Given the description of an element on the screen output the (x, y) to click on. 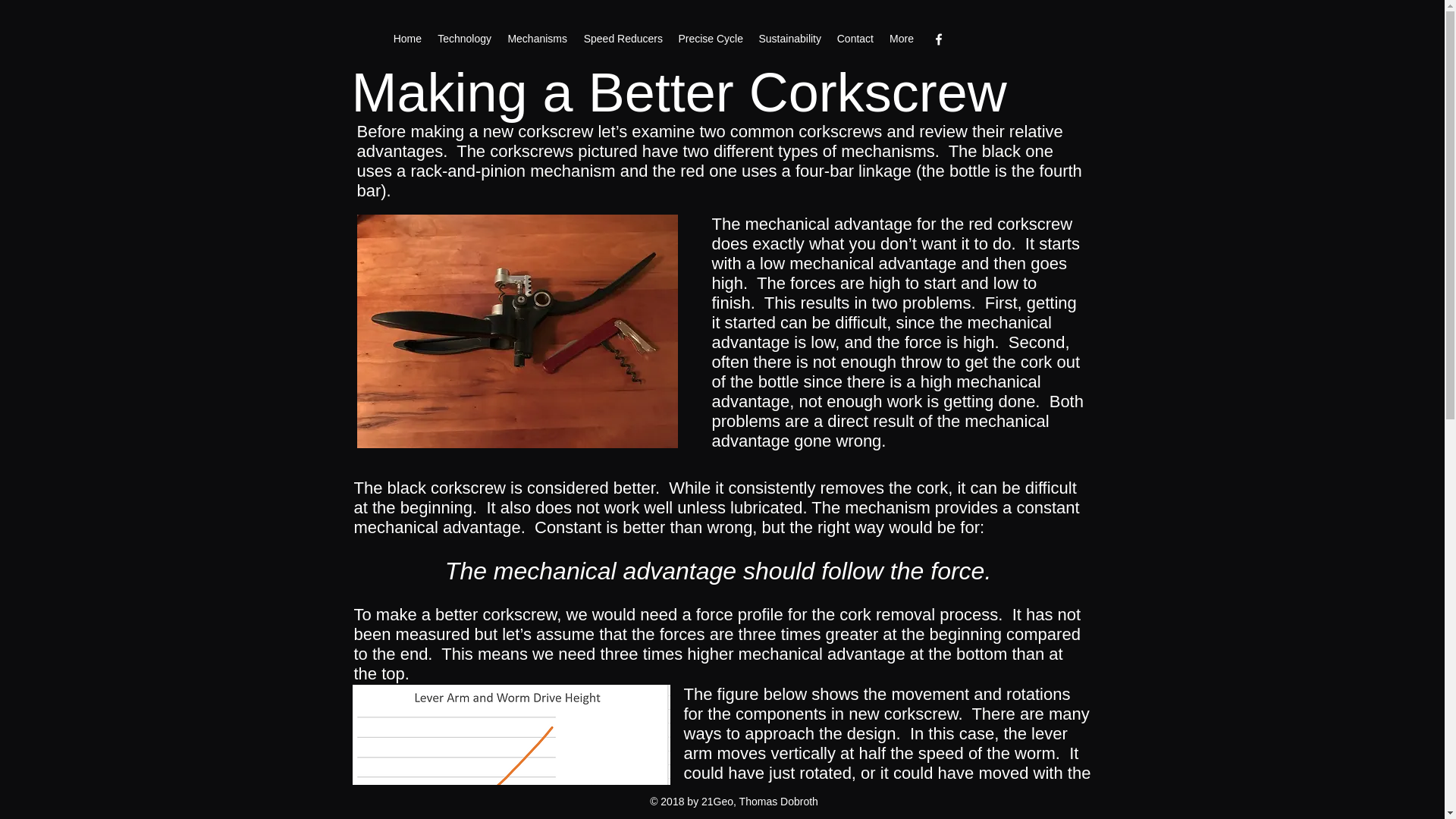
Speed Reducers (622, 38)
Home (407, 38)
Mechanisms (537, 38)
Sustainability (789, 38)
Contact (854, 38)
Precise Cycle (710, 38)
Technology (464, 38)
